Given the description of an element on the screen output the (x, y) to click on. 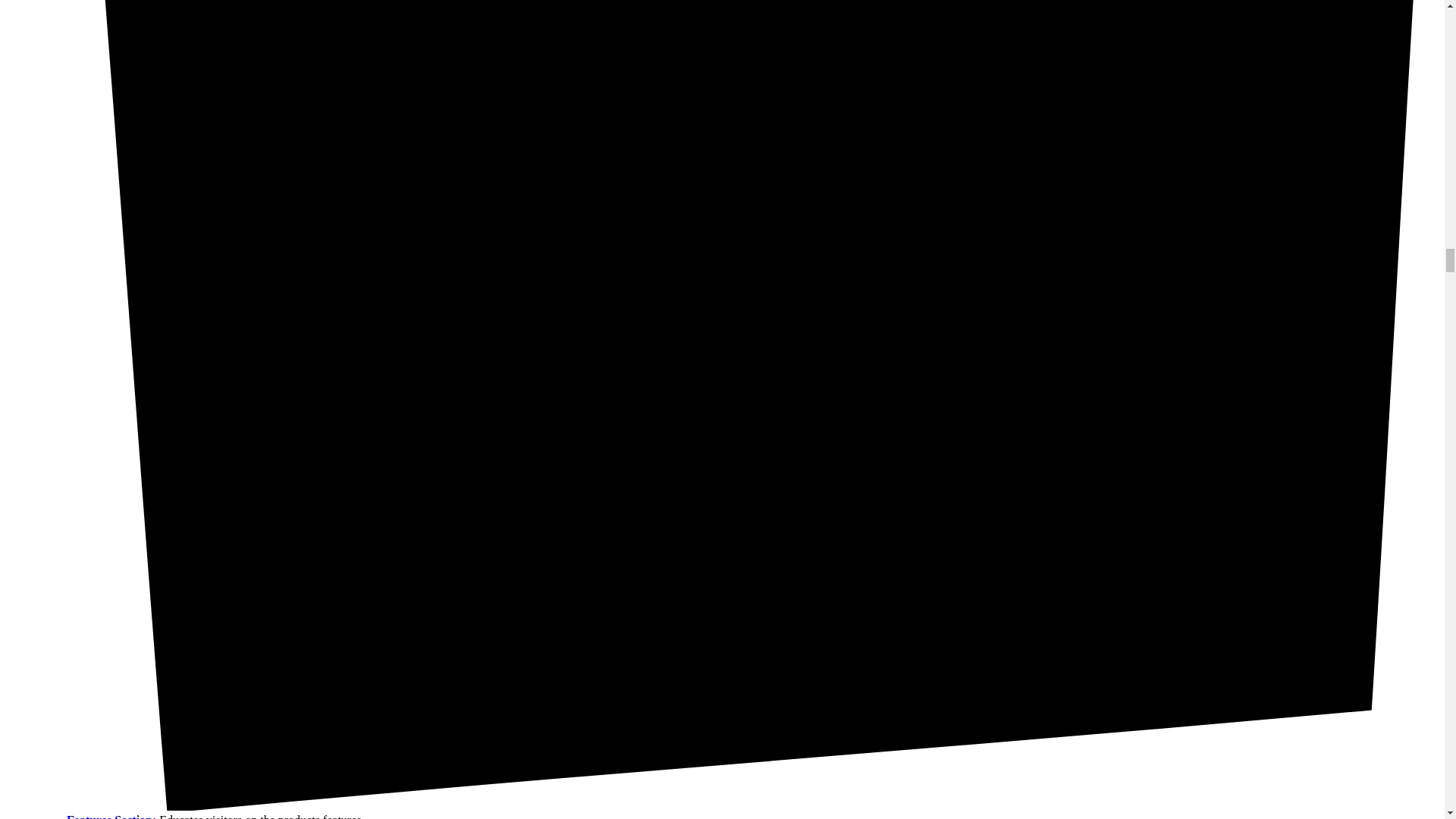
Features Section (109, 816)
Couch Gamers - Features (109, 816)
